Given the description of an element on the screen output the (x, y) to click on. 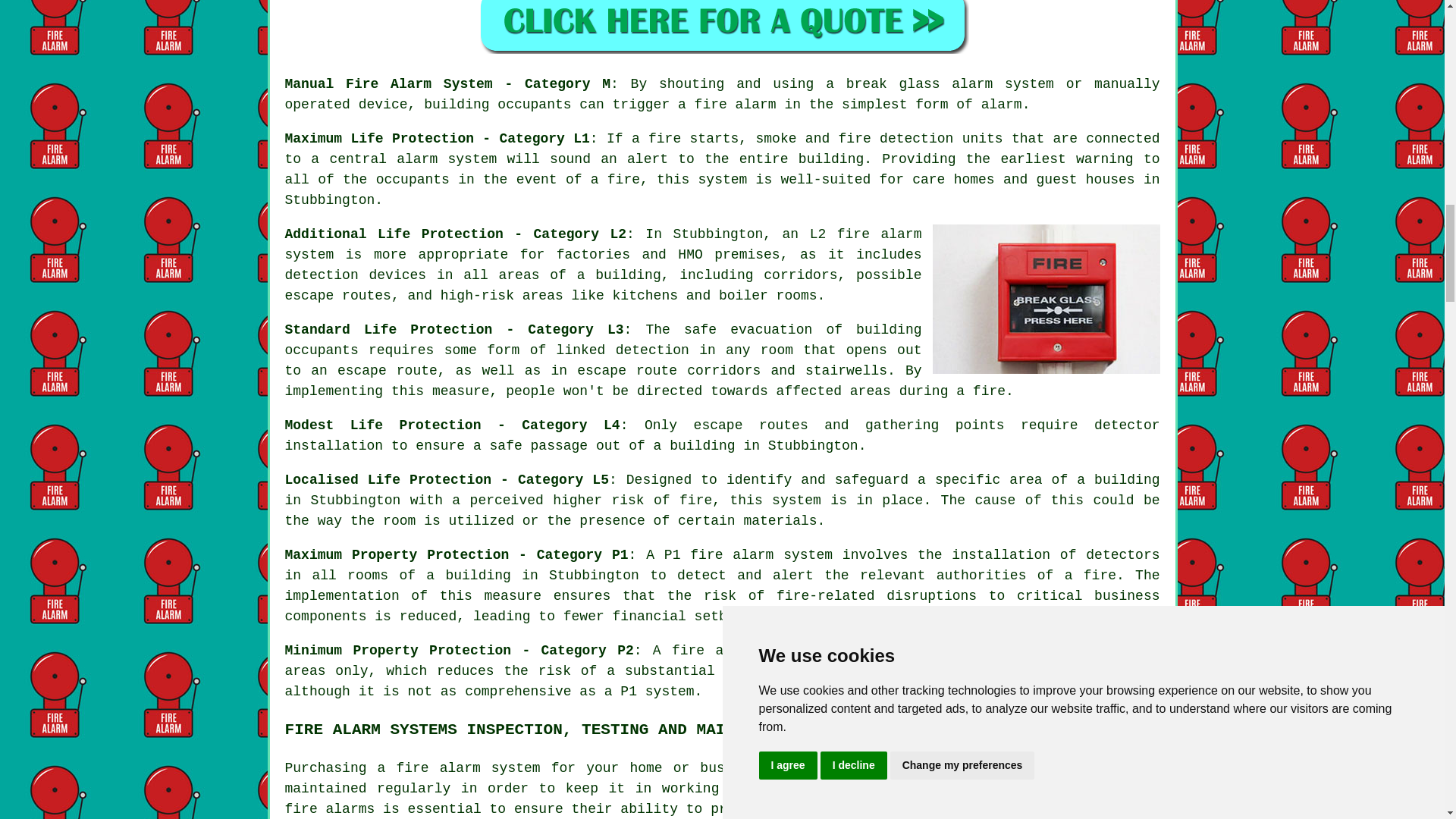
Fire Alarm Installation Quotes in Stubbington Hampshire (722, 27)
safe passage (538, 445)
a fire alarm system (458, 767)
safe evacuation (748, 329)
alarm system (603, 244)
Fire Alarm Installation Near Stubbington Hampshire (1046, 298)
